Given the description of an element on the screen output the (x, y) to click on. 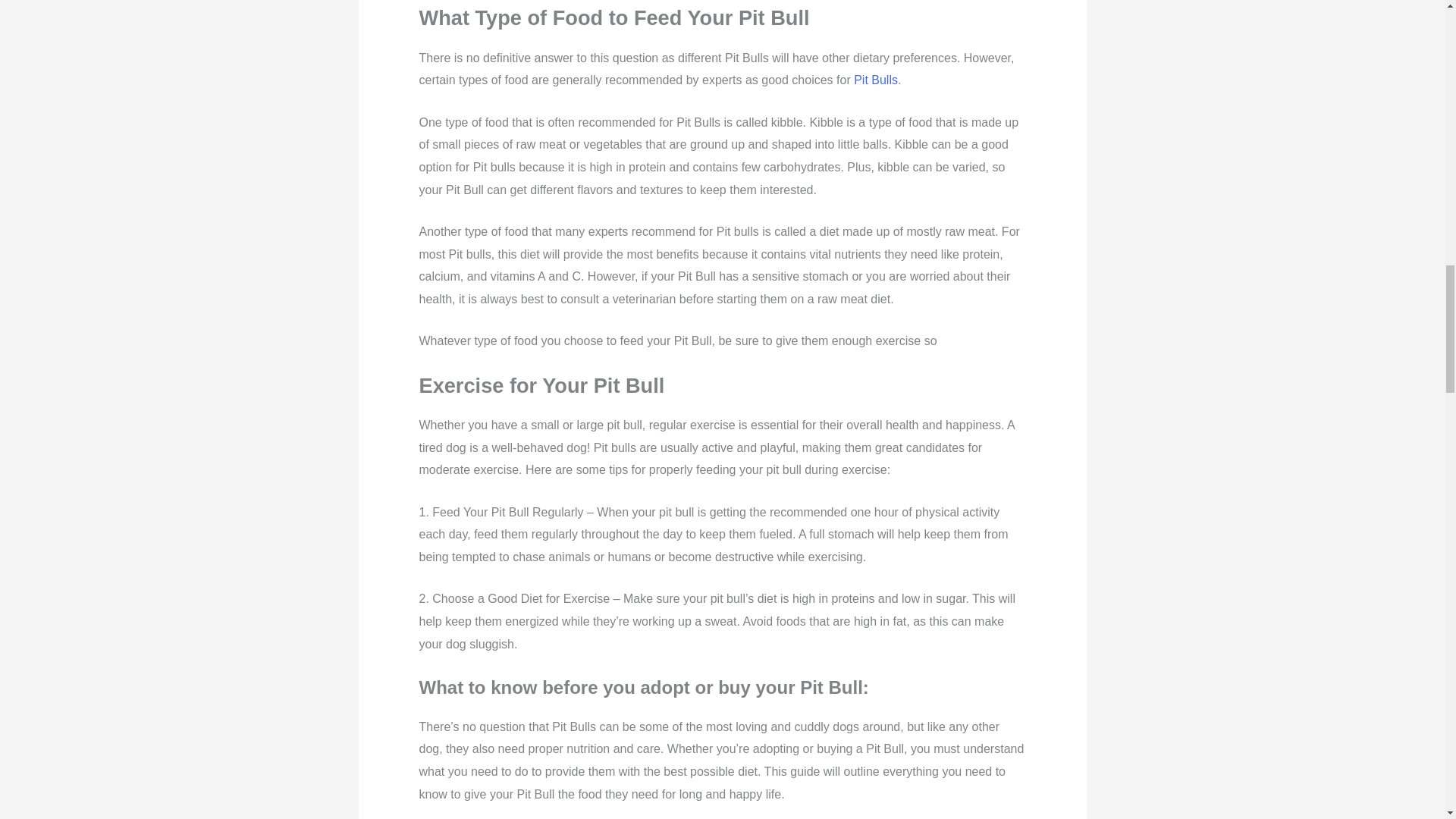
Pit Bulls (875, 79)
